Given the description of an element on the screen output the (x, y) to click on. 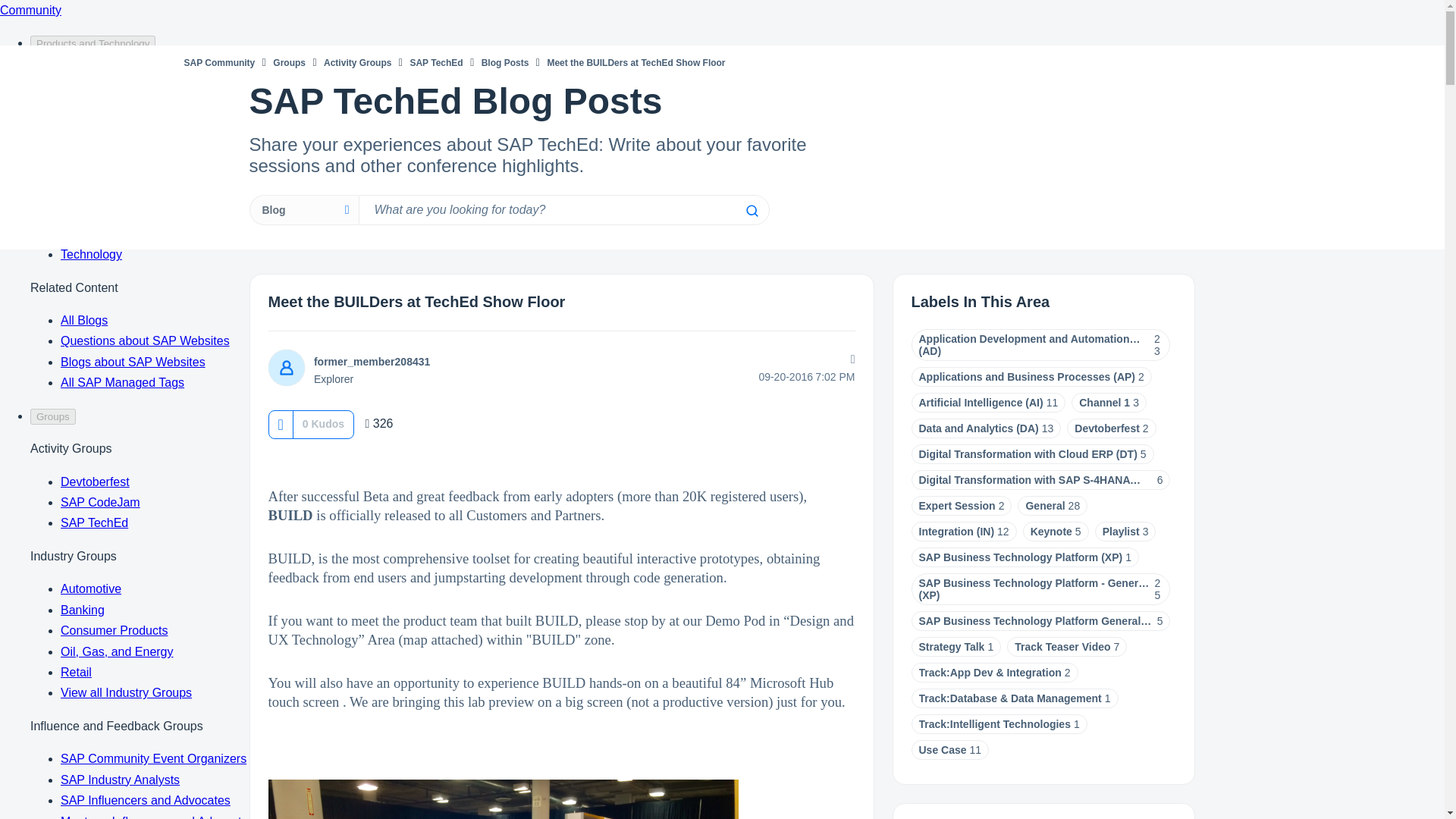
Search Granularity (303, 209)
Search (750, 210)
The total number of kudos this post has received. (323, 423)
Search (563, 209)
Channel 1 (1103, 402)
Meet the BUILDers at TechEd Show Floor (416, 301)
Click here to give kudos to this post. (279, 424)
SAP Community (218, 62)
Devtoberfest (1107, 428)
Groups (289, 62)
SAP TechEd (436, 62)
Activity Groups (357, 62)
Blog Posts (505, 62)
Search (750, 210)
Posted on (757, 377)
